Given the description of an element on the screen output the (x, y) to click on. 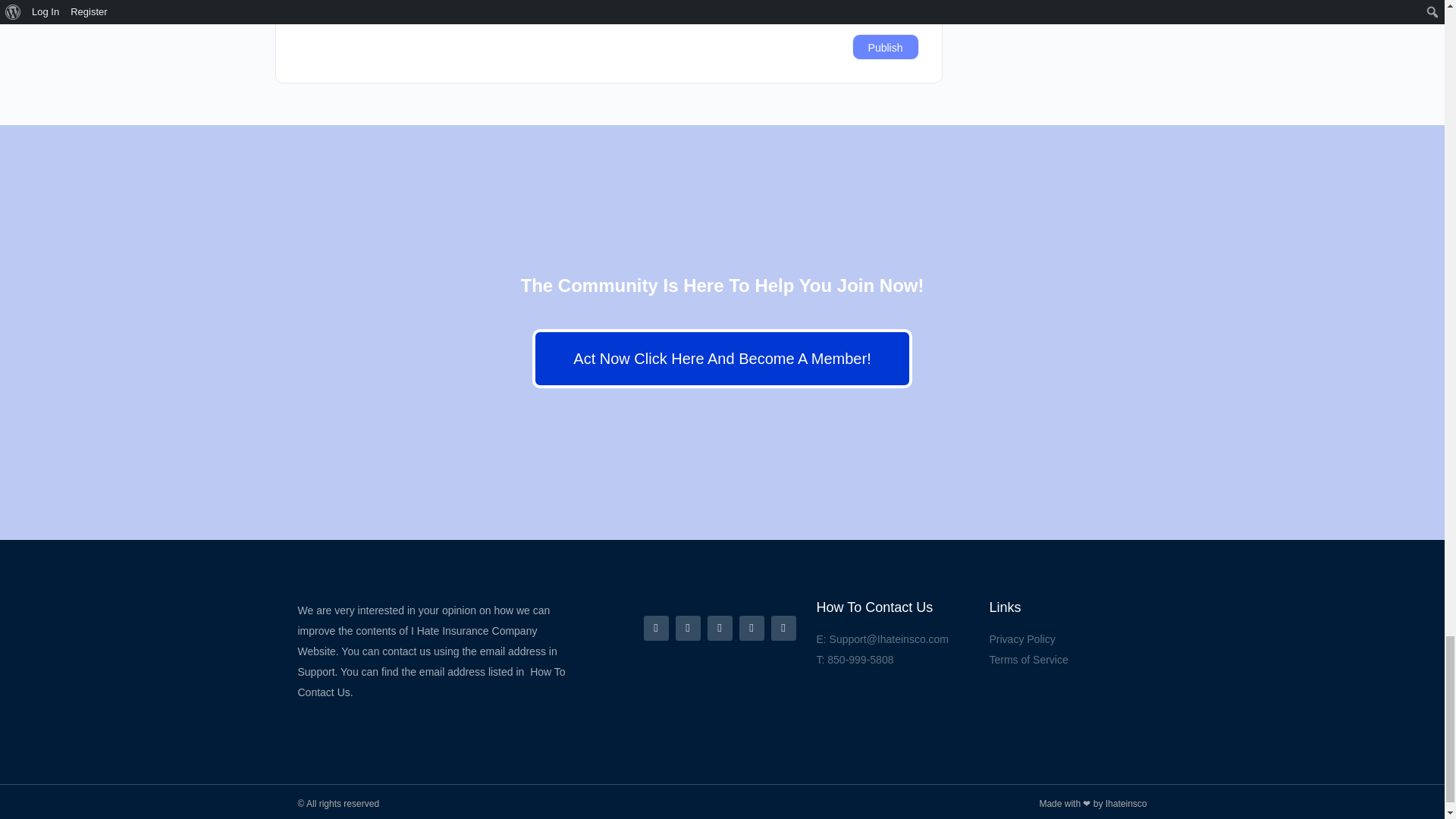
Publish (884, 46)
